Given the description of an element on the screen output the (x, y) to click on. 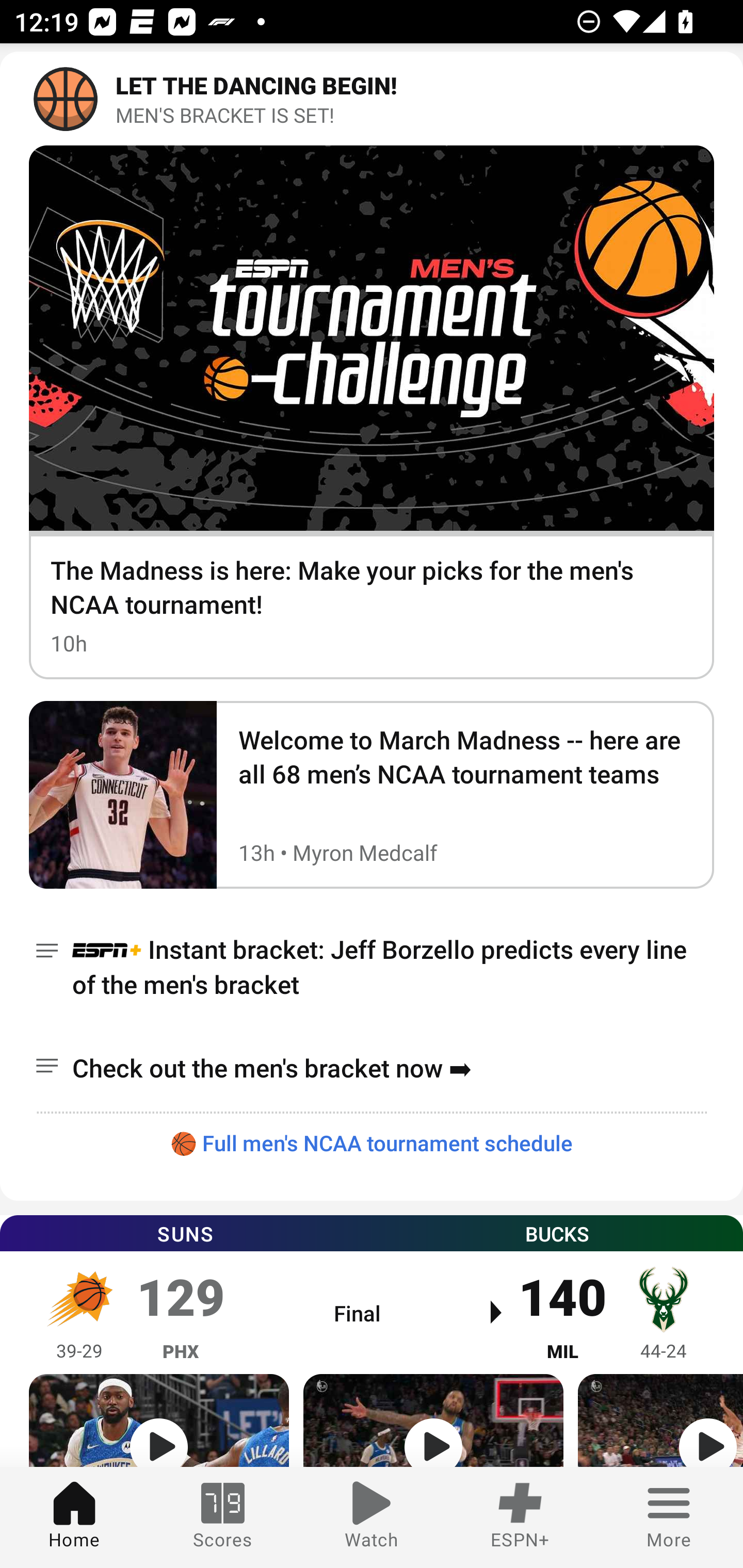
 Check out the men's bracket now ➡ (371, 1067)
🏀 Full men's NCAA tournament schedule (371, 1142)
 (158, 1420)
 (433, 1420)
 (660, 1420)
Scores (222, 1517)
Watch (371, 1517)
ESPN+ (519, 1517)
More (668, 1517)
